Given the description of an element on the screen output the (x, y) to click on. 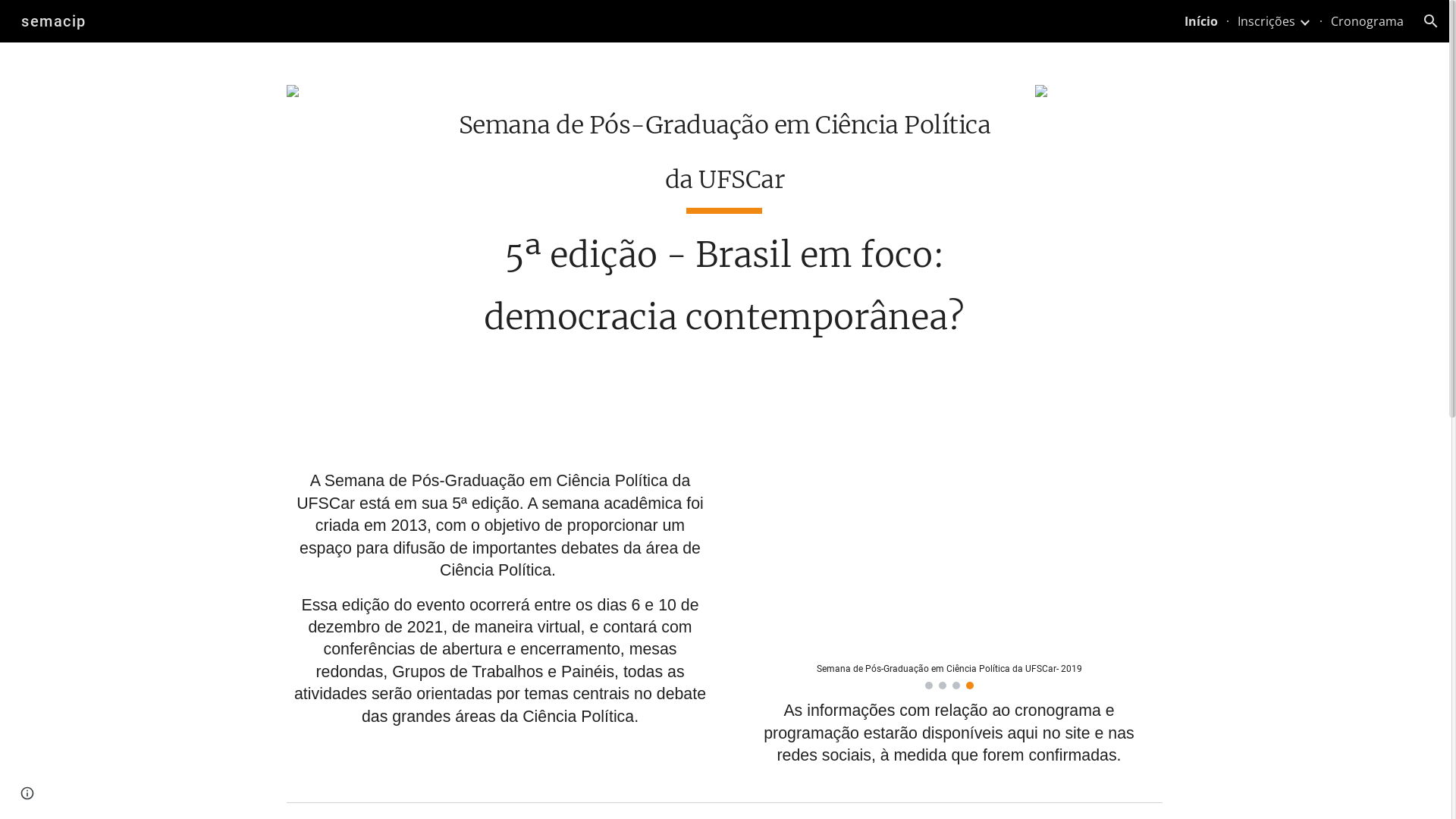
Expand/Collapse Element type: hover (1304, 20)
Cronograma Element type: text (1366, 20)
semacip Element type: text (53, 19)
